Given the description of an element on the screen output the (x, y) to click on. 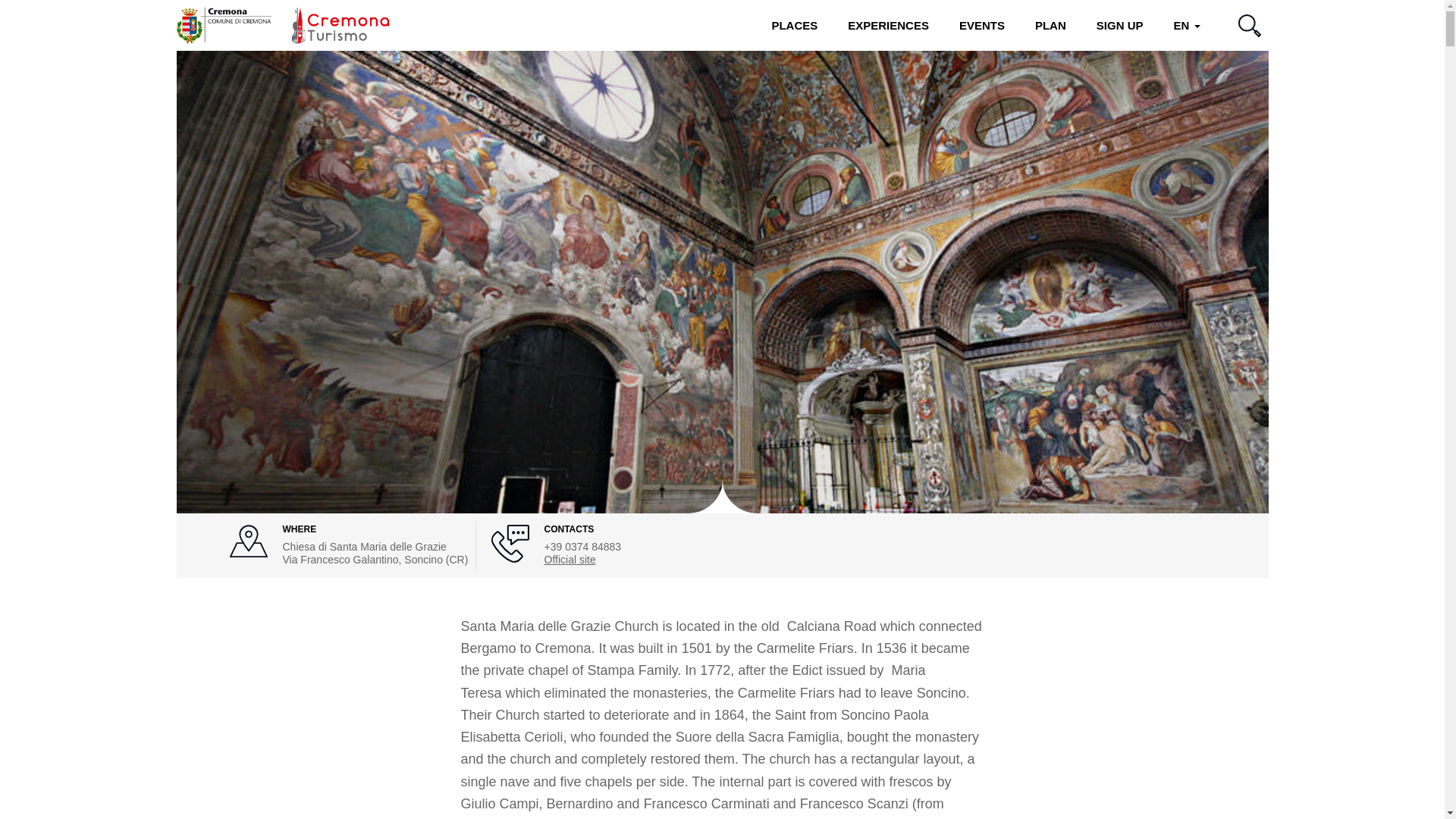
EVENTS (981, 25)
Official site (569, 559)
EXPERIENCES (887, 25)
EN (1185, 25)
PLACES (793, 25)
SIGN UP (1119, 25)
SEARCH (1248, 25)
Home (282, 24)
PLAN (1050, 25)
